Given the description of an element on the screen output the (x, y) to click on. 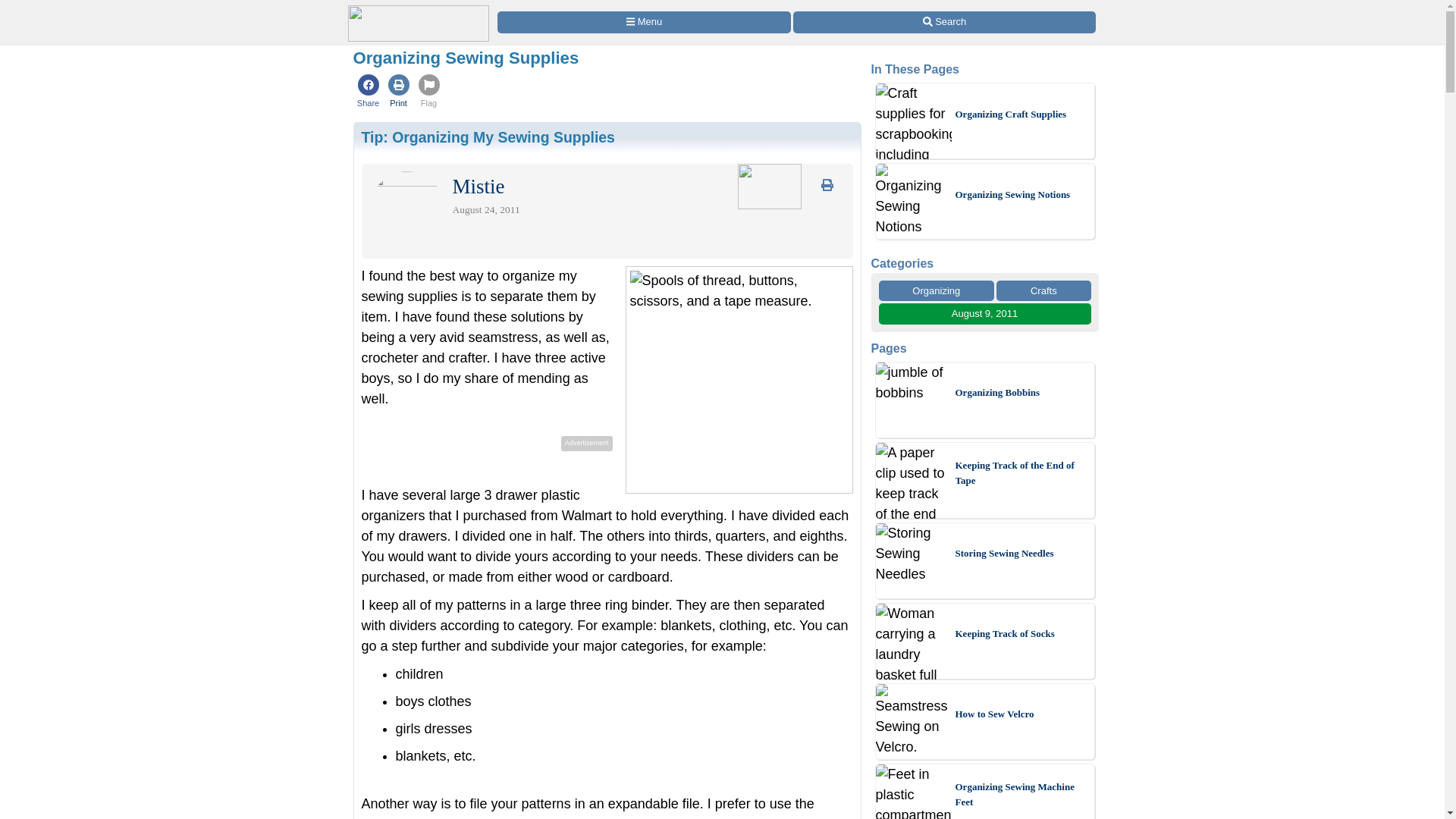
Tip: Organizing My Sewing Supplies (487, 136)
Mistie (477, 189)
